Given the description of an element on the screen output the (x, y) to click on. 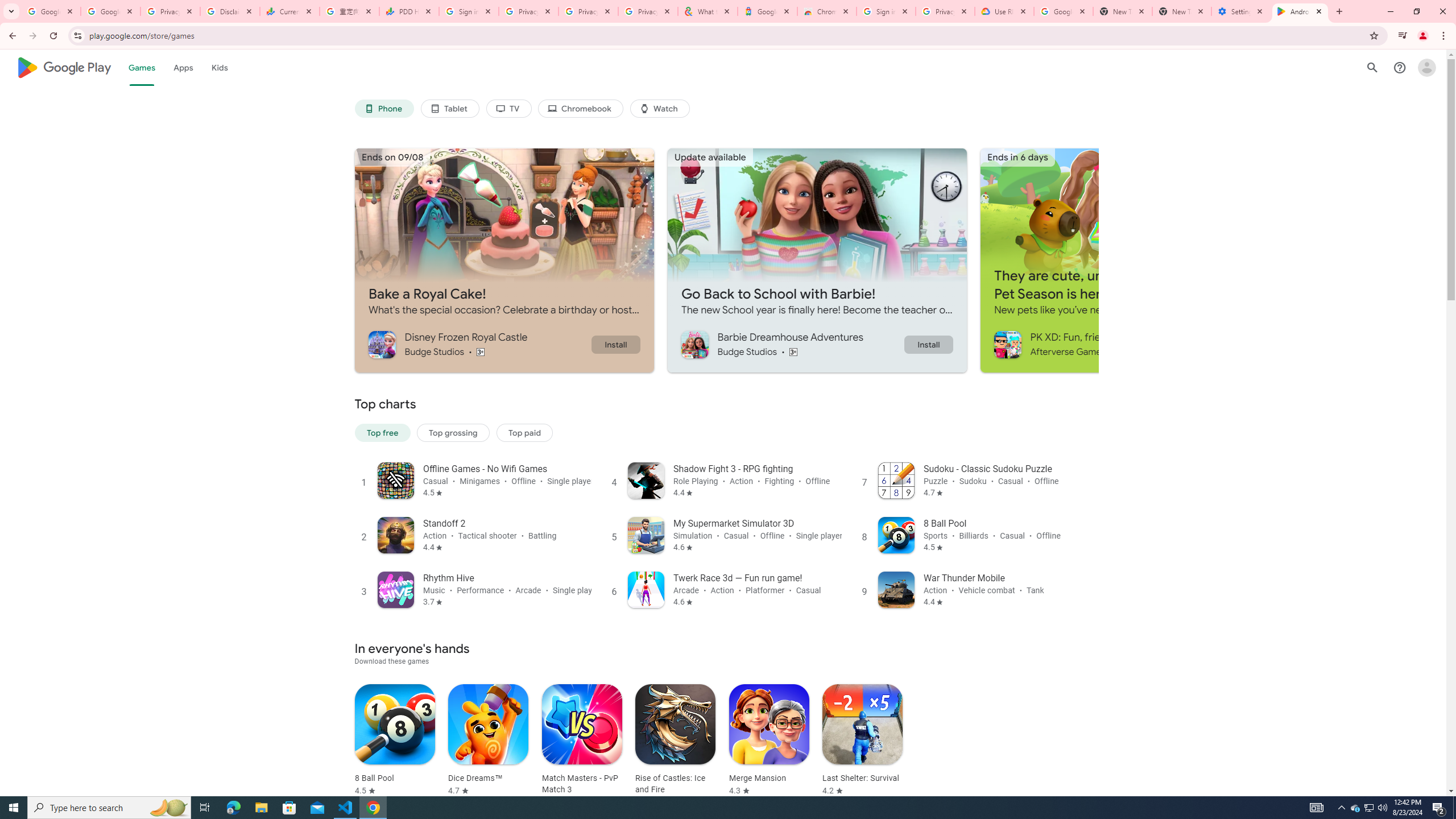
Phone (383, 108)
Watch (660, 108)
8 Ball Pool Rated 4.5 stars out of five stars (394, 739)
Sign in - Google Accounts (468, 11)
Android Apps on Google Play (1300, 11)
Chromebook (581, 108)
Top paid (524, 432)
